Given the description of an element on the screen output the (x, y) to click on. 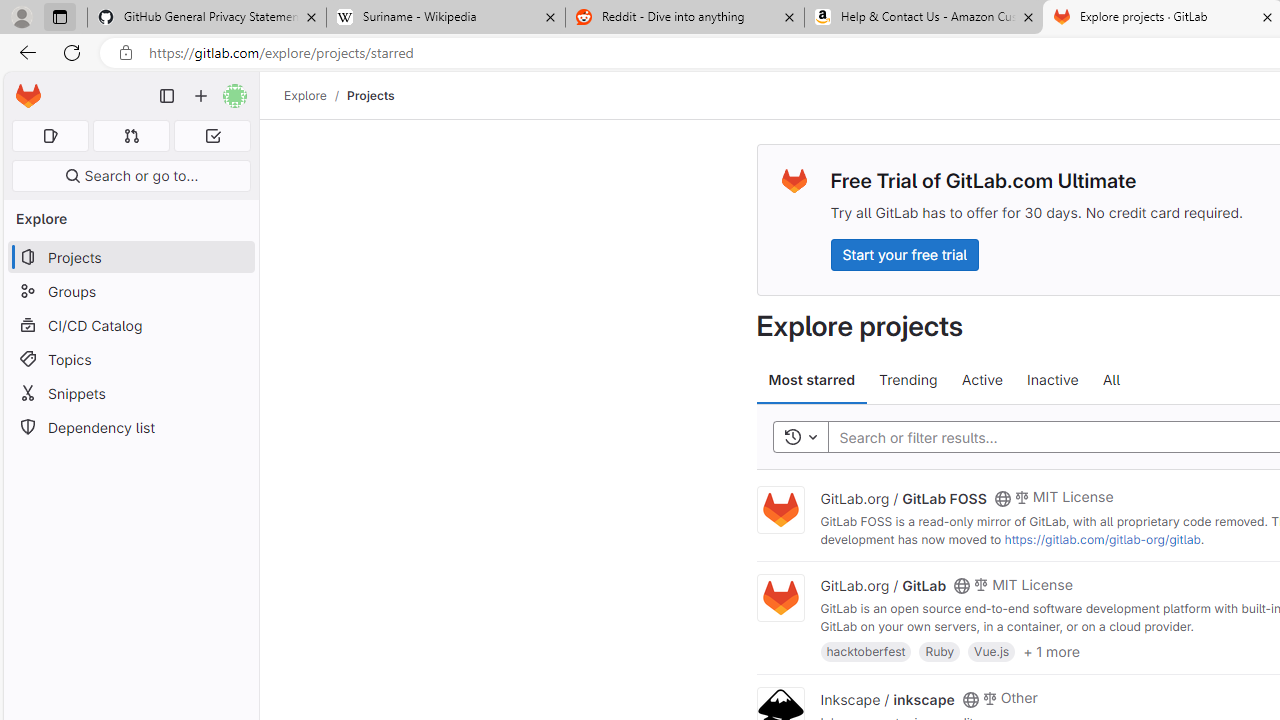
Class: s16 (970, 699)
Help & Contact Us - Amazon Customer Service (924, 17)
Inkscape / inkscape (887, 698)
GitHub General Privacy Statement - GitHub Docs (207, 17)
Projects (370, 95)
Reddit - Dive into anything (684, 17)
https://gitlab.com/gitlab-org/gitlab (1101, 539)
To-Do list 0 (212, 136)
Skip to main content (23, 87)
+ 1 more (1051, 650)
CI/CD Catalog (130, 325)
Class: s14 gl-mr-2 (989, 696)
Most starred (811, 379)
Dependency list (130, 427)
All (1111, 379)
